Given the description of an element on the screen output the (x, y) to click on. 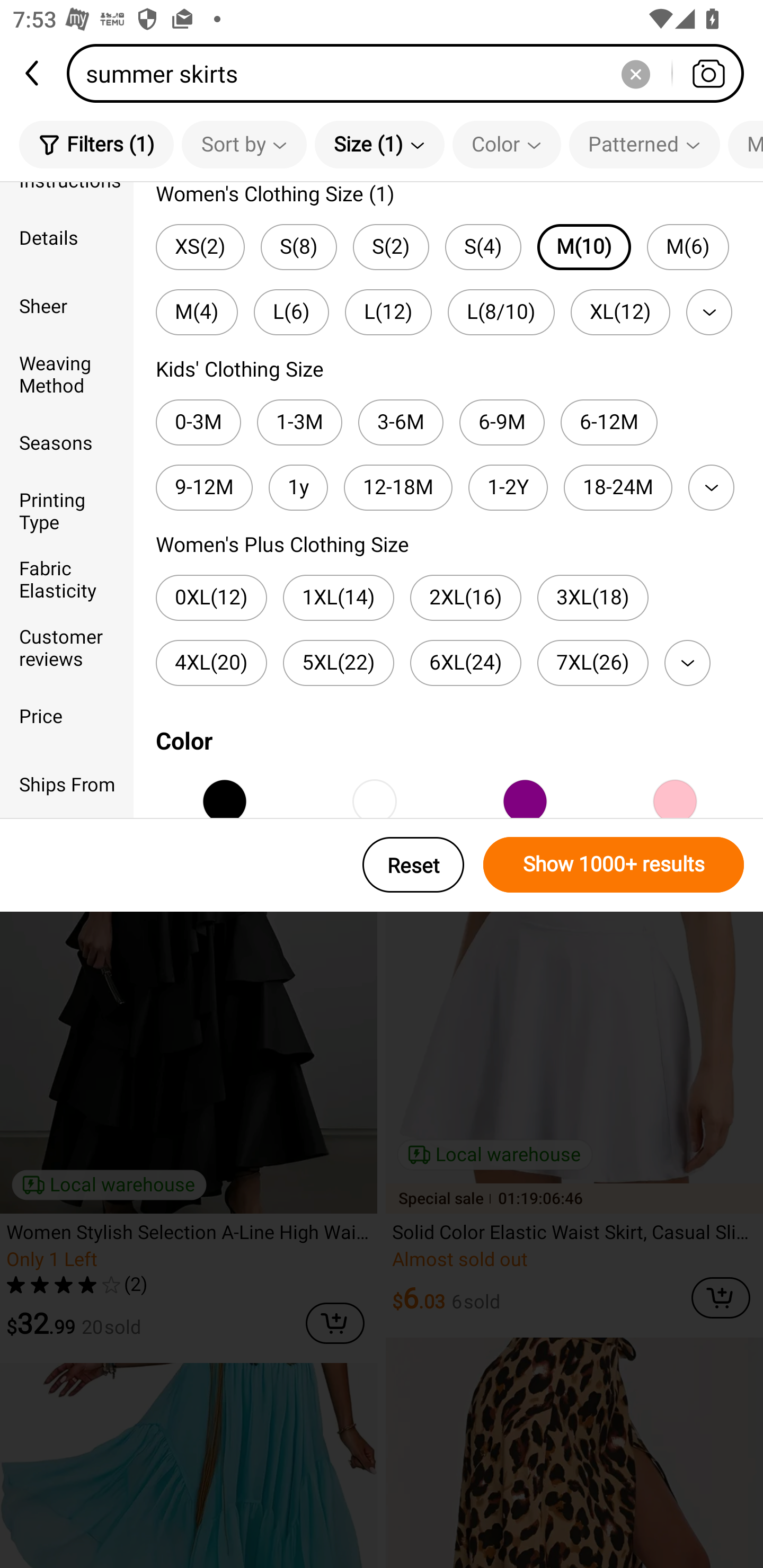
back (33, 72)
summer skirts (411, 73)
Delete search history (635, 73)
Search by photo (708, 73)
Filters (1) (96, 143)
Sort by (243, 143)
Size (1) (379, 143)
Color (506, 143)
Patterned (644, 143)
Details (66, 236)
XS(2) (199, 246)
S(8) (298, 246)
S(2) (390, 246)
S(4) (482, 246)
M(10) (584, 246)
M(6) (688, 246)
Sheer (66, 305)
M(4) (196, 311)
L(6) (291, 311)
L(12) (387, 311)
L(8/10) (500, 311)
XL(12) (619, 311)
More (708, 311)
Weaving Method (66, 373)
0-3M (198, 422)
1-3M (299, 422)
3-6M (400, 422)
6-9M (501, 422)
6-12M (608, 422)
Seasons (66, 441)
9-12M (203, 487)
1y (298, 487)
12-18M (398, 487)
1-2Y (507, 487)
18-24M (617, 487)
More (711, 487)
Printing Type (66, 510)
Fabric Elasticity (66, 578)
0XL(12) (211, 597)
1XL(14) (338, 597)
2XL(16) (465, 597)
3XL(18) (592, 597)
Customer reviews (66, 646)
4XL(20) (211, 662)
5XL(22) (338, 662)
6XL(24) (465, 662)
7XL(26) (592, 662)
More (687, 662)
Price (66, 714)
Ships From (66, 783)
Reset (412, 864)
Show 1000+ results (612, 864)
